Given the description of an element on the screen output the (x, y) to click on. 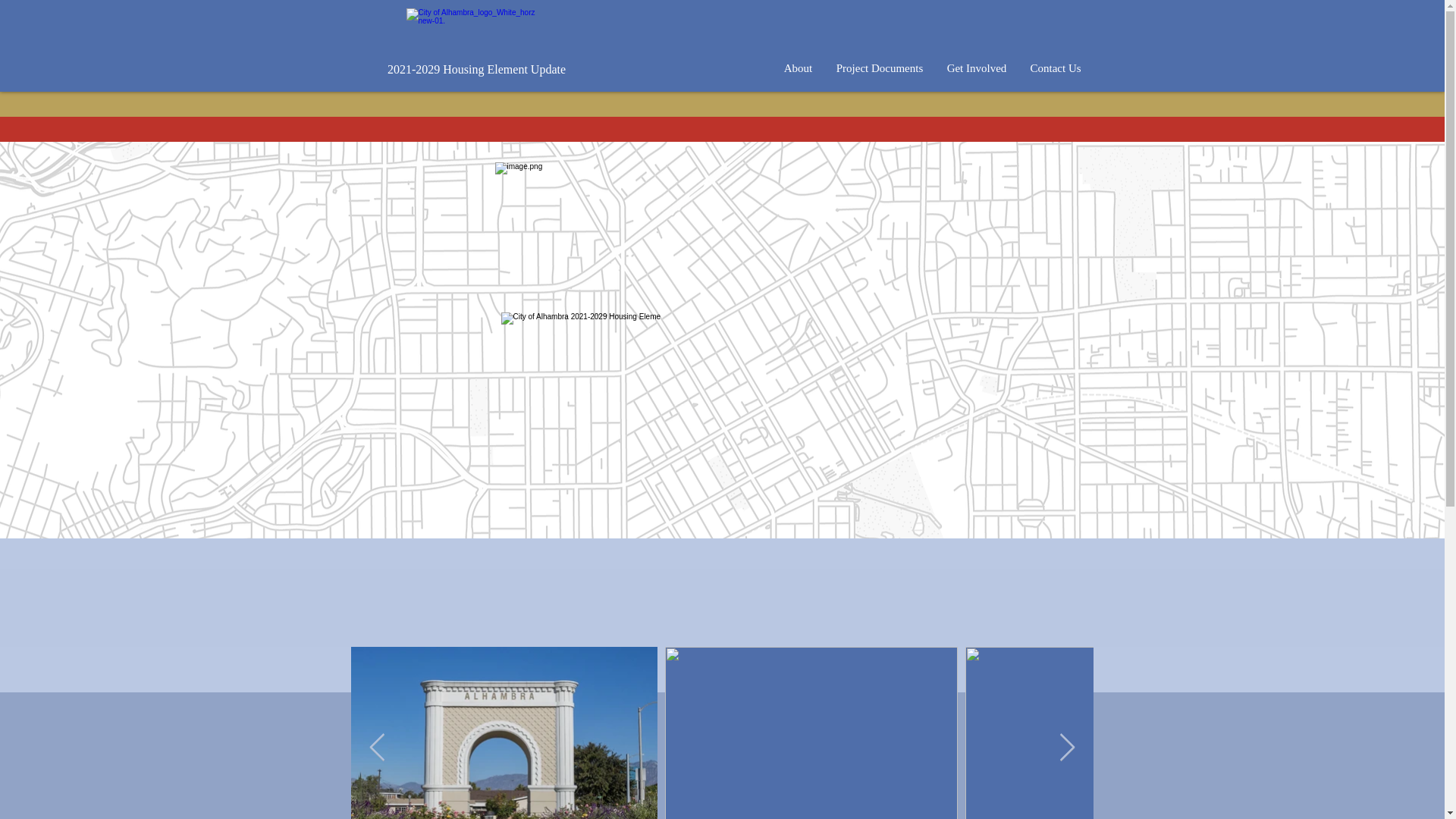
Get Involved (975, 68)
2021-2029 Housing Element Update (476, 69)
Contact Us (1054, 68)
About (797, 68)
Project Documents (879, 68)
